Given the description of an element on the screen output the (x, y) to click on. 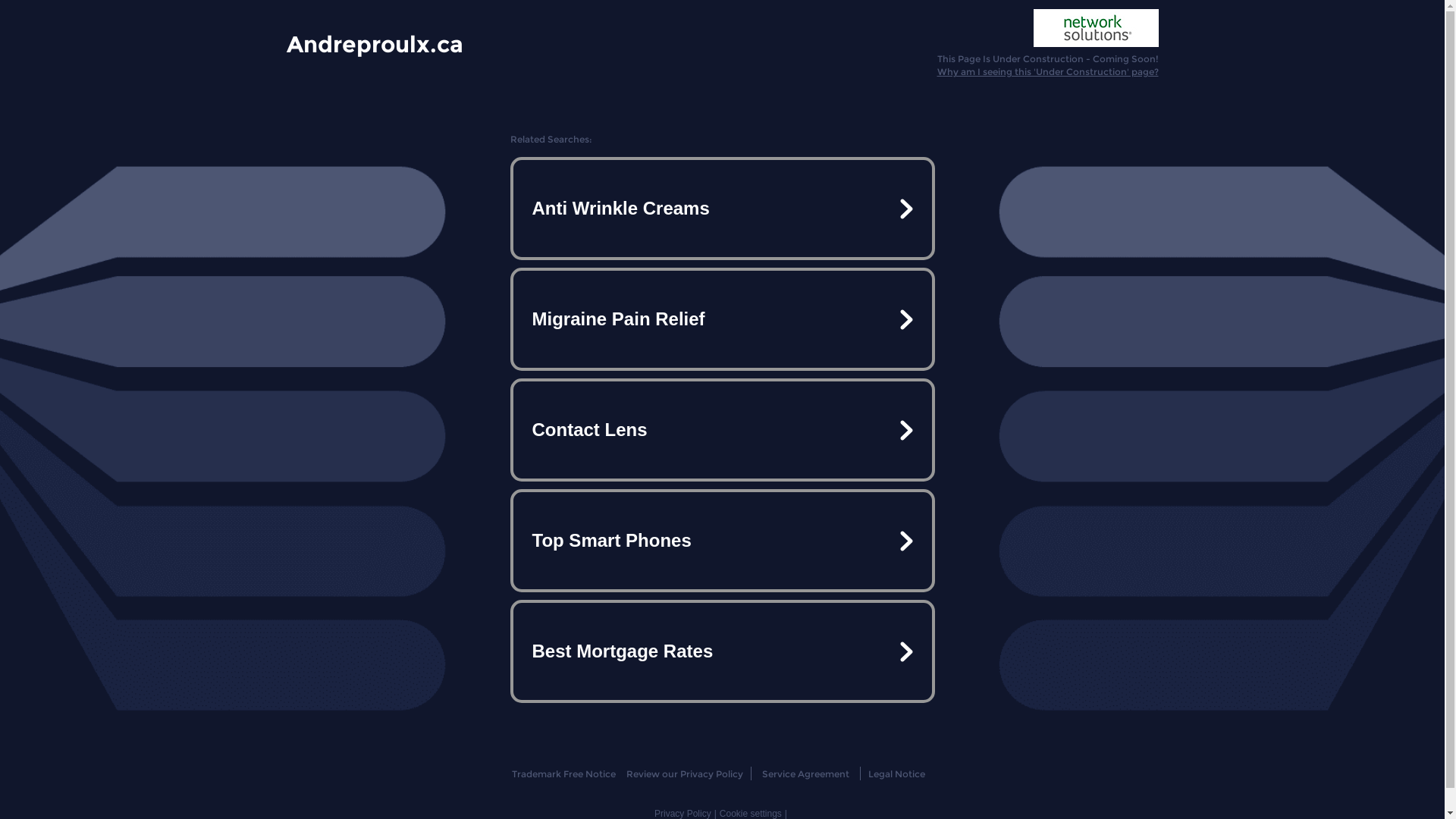
Contact Lens Element type: text (721, 429)
Top Smart Phones Element type: text (721, 540)
Anti Wrinkle Creams Element type: text (721, 208)
Migraine Pain Relief Element type: text (721, 318)
Legal Notice Element type: text (896, 773)
Andreproulx.ca Element type: text (374, 43)
Best Mortgage Rates Element type: text (721, 650)
Review our Privacy Policy Element type: text (684, 773)
Why am I seeing this 'Under Construction' page? Element type: text (1047, 71)
Service Agreement Element type: text (805, 773)
Trademark Free Notice Element type: text (563, 773)
